Given the description of an element on the screen output the (x, y) to click on. 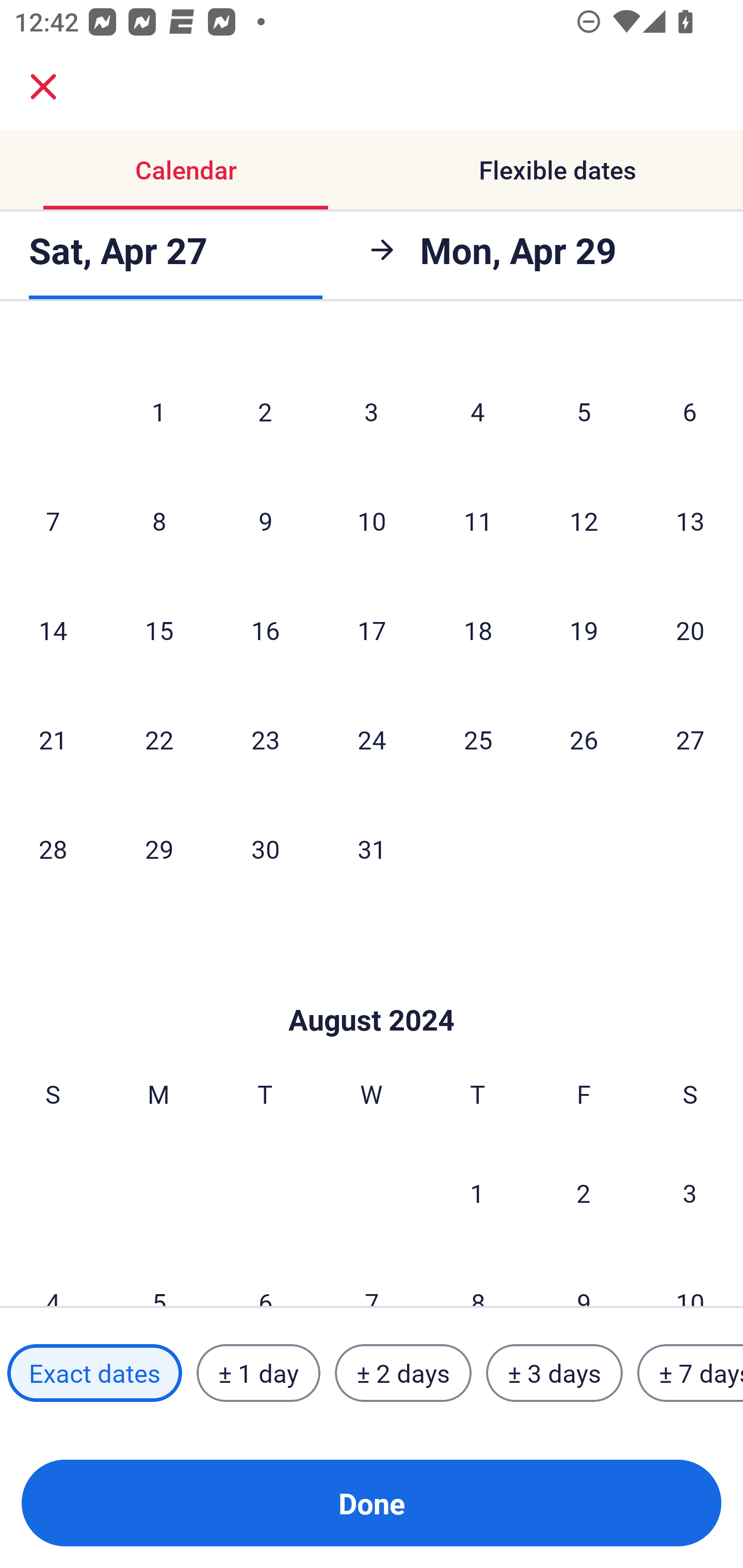
close. (43, 86)
Flexible dates (557, 170)
1 Monday, July 1, 2024 (158, 411)
2 Tuesday, July 2, 2024 (264, 411)
3 Wednesday, July 3, 2024 (371, 411)
4 Thursday, July 4, 2024 (477, 411)
5 Friday, July 5, 2024 (583, 411)
6 Saturday, July 6, 2024 (689, 411)
7 Sunday, July 7, 2024 (53, 520)
8 Monday, July 8, 2024 (159, 520)
9 Tuesday, July 9, 2024 (265, 520)
10 Wednesday, July 10, 2024 (371, 520)
11 Thursday, July 11, 2024 (477, 520)
12 Friday, July 12, 2024 (584, 520)
13 Saturday, July 13, 2024 (690, 520)
14 Sunday, July 14, 2024 (53, 630)
15 Monday, July 15, 2024 (159, 630)
16 Tuesday, July 16, 2024 (265, 630)
17 Wednesday, July 17, 2024 (371, 630)
18 Thursday, July 18, 2024 (477, 630)
19 Friday, July 19, 2024 (584, 630)
20 Saturday, July 20, 2024 (690, 630)
21 Sunday, July 21, 2024 (53, 738)
22 Monday, July 22, 2024 (159, 738)
23 Tuesday, July 23, 2024 (265, 738)
24 Wednesday, July 24, 2024 (371, 738)
25 Thursday, July 25, 2024 (477, 738)
26 Friday, July 26, 2024 (584, 738)
27 Saturday, July 27, 2024 (690, 738)
28 Sunday, July 28, 2024 (53, 848)
29 Monday, July 29, 2024 (159, 848)
30 Tuesday, July 30, 2024 (265, 848)
31 Wednesday, July 31, 2024 (371, 848)
Skip to Done (371, 989)
1 Thursday, August 1, 2024 (477, 1191)
2 Friday, August 2, 2024 (583, 1191)
3 Saturday, August 3, 2024 (689, 1191)
Exact dates (94, 1372)
± 1 day (258, 1372)
± 2 days (403, 1372)
± 3 days (553, 1372)
± 7 days (690, 1372)
Done (371, 1502)
